Given the description of an element on the screen output the (x, y) to click on. 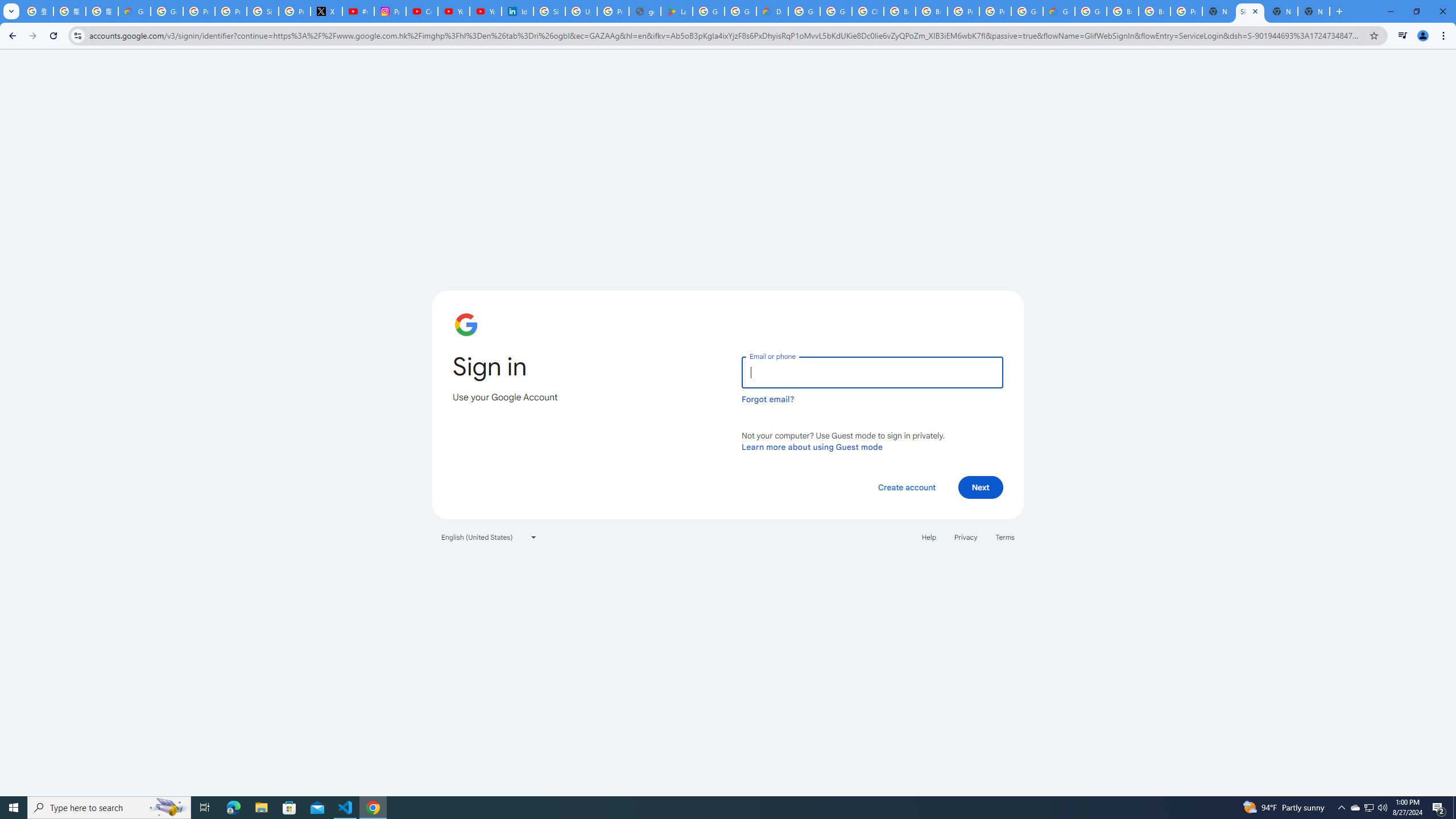
New Tab (1217, 11)
Browse Chrome as a guest - Computer - Google Chrome Help (1123, 11)
English (United States) (489, 536)
Google Cloud Platform (804, 11)
X (326, 11)
